Given the description of an element on the screen output the (x, y) to click on. 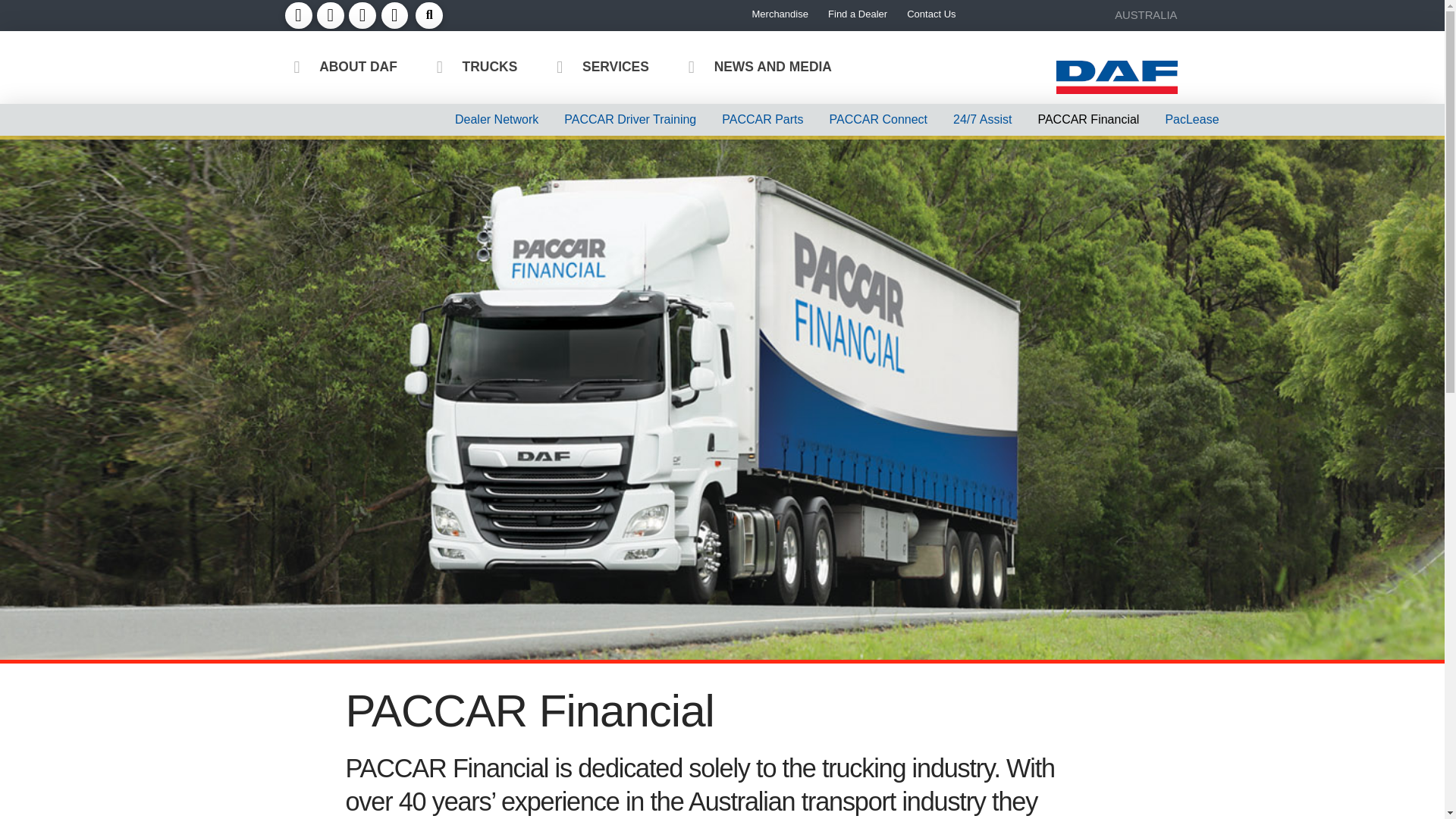
SERVICES (595, 67)
Merchandise (780, 13)
ABOUT DAF (337, 67)
PACCAR Parts (762, 119)
NEWS AND MEDIA (753, 67)
TRUCKS (469, 67)
PacLease (1191, 119)
PACCAR Financial (1088, 119)
Find a Dealer (857, 13)
Contact Us (930, 13)
PACCAR Connect (878, 119)
Dealer Network (496, 119)
PACCAR Driver Training (630, 119)
